Given the description of an element on the screen output the (x, y) to click on. 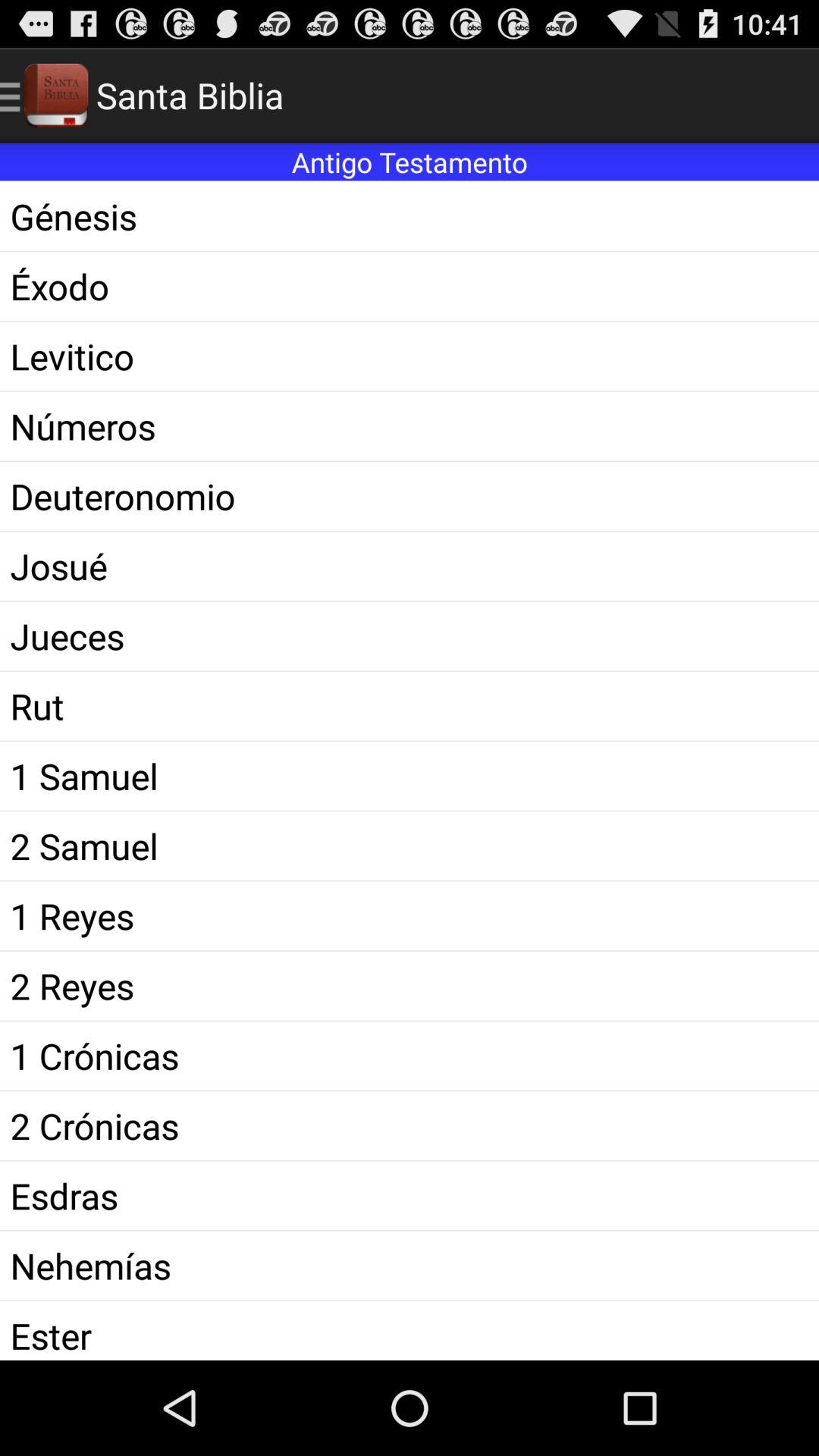
tap the icon below 1 reyes icon (409, 985)
